Given the description of an element on the screen output the (x, y) to click on. 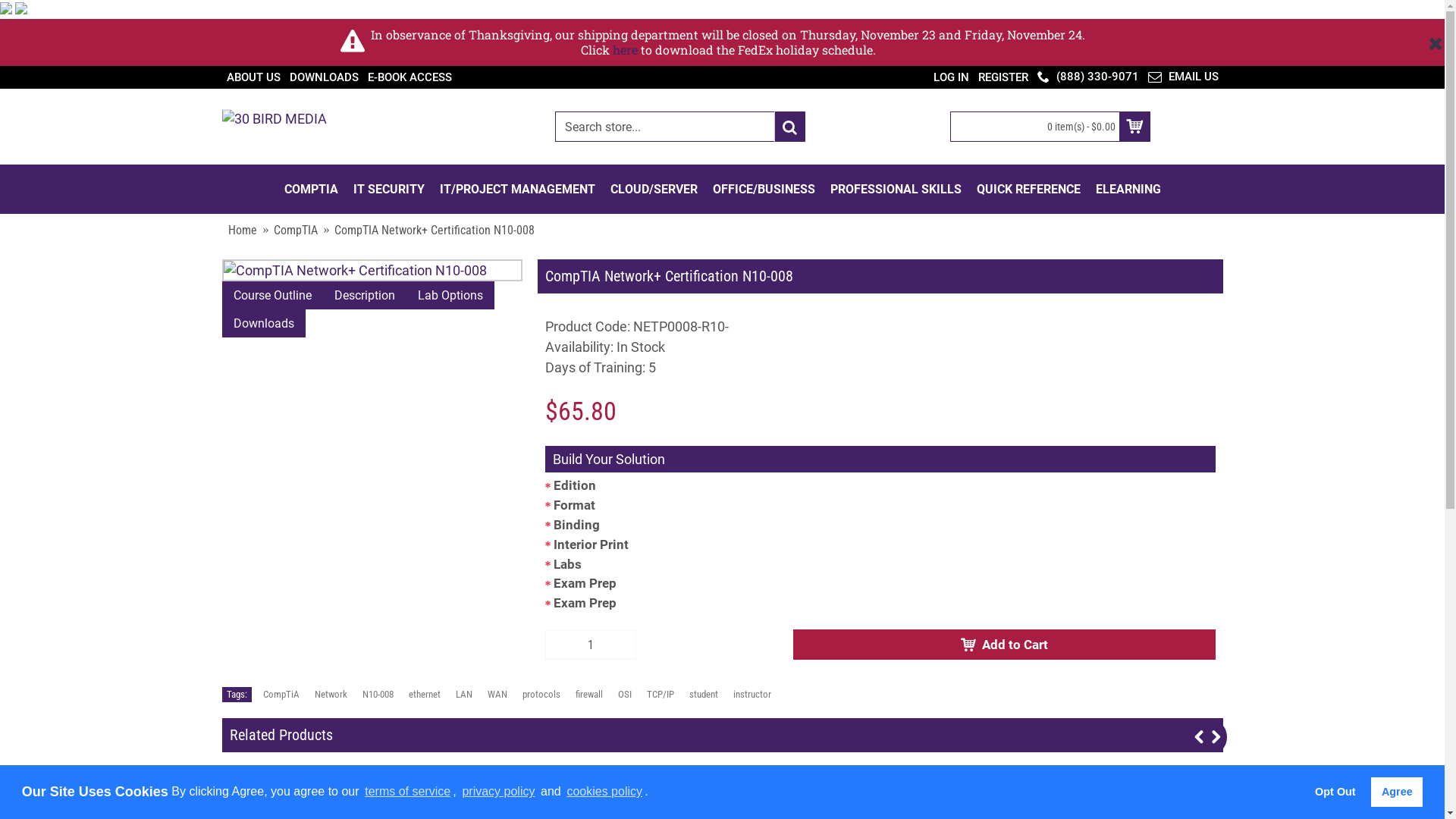
ELEARNING Element type: text (1127, 188)
Agree Element type: text (1396, 791)
Network Element type: text (330, 694)
privacy policy Element type: text (497, 791)
30 BIRD MEDIA Element type: hover (273, 126)
COMPTIA Element type: text (310, 188)
0 item(s) - $0.00 Element type: text (1049, 126)
CompTIA Element type: text (294, 230)
ABOUT US Element type: text (252, 76)
LOG IN Element type: text (950, 76)
(888) 330-9071 Element type: text (1087, 76)
Add to Cart Element type: text (1004, 644)
IT SECURITY Element type: text (388, 188)
ethernet Element type: text (423, 694)
here Element type: text (624, 49)
Course Outline Element type: text (271, 295)
instructor Element type: text (751, 694)
protocols Element type: text (540, 694)
student Element type: text (702, 694)
cookies policy Element type: text (604, 791)
LAN Element type: text (463, 694)
CLOUD/SERVER Element type: text (652, 188)
DOWNLOADS Element type: text (324, 76)
CompTiA Element type: text (280, 694)
PROFESSIONAL SKILLS Element type: text (894, 188)
N10-008 Element type: text (377, 694)
terms of service Element type: text (407, 791)
E-BOOK ACCESS Element type: text (408, 76)
REGISTER Element type: text (1002, 76)
Home Element type: text (241, 230)
IT/PROJECT MANAGEMENT Element type: text (517, 188)
Description Element type: text (364, 295)
Opt Out Element type: text (1335, 791)
WAN Element type: text (496, 694)
Lab Options Element type: text (450, 295)
OSI Element type: text (623, 694)
CompTIA Network+ Certification N10-008 Element type: hover (371, 270)
EMAIL US Element type: text (1183, 76)
QUICK REFERENCE Element type: text (1028, 188)
OFFICE/BUSINESS Element type: text (763, 188)
TCP/IP Element type: text (659, 694)
CompTIA Network+ Certification N10-008 Element type: text (433, 230)
firewall Element type: text (588, 694)
Downloads Element type: text (262, 323)
